Given the description of an element on the screen output the (x, y) to click on. 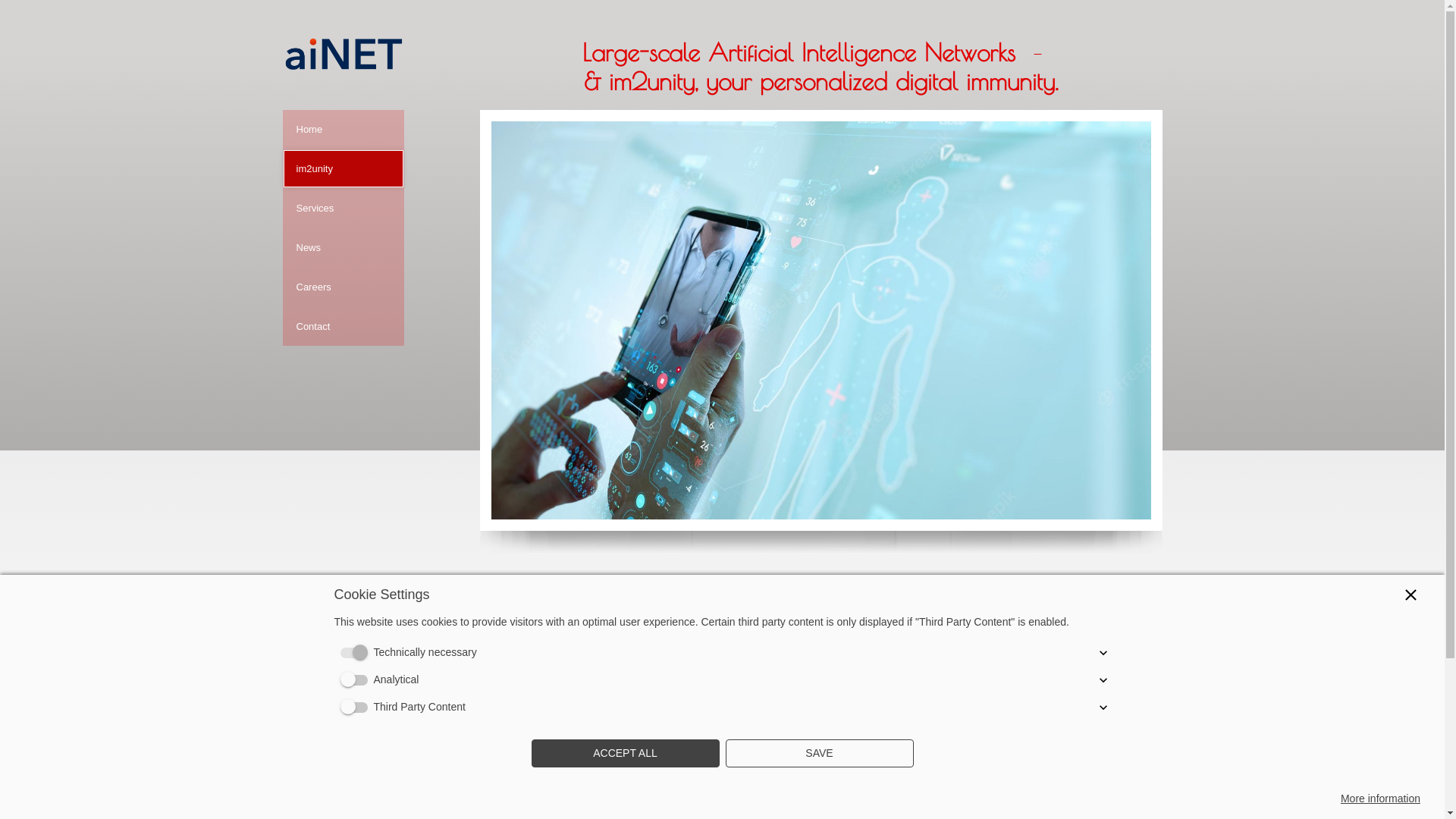
Home Element type: text (342, 128)
im2unity Element type: text (342, 168)
ACCEPT ALL Element type: text (624, 753)
Services Element type: text (342, 207)
News Element type: text (342, 247)
Contact Element type: text (342, 326)
Careers Element type: text (342, 286)
SAVE Element type: text (818, 753)
More information Element type: text (1380, 798)
